Given the description of an element on the screen output the (x, y) to click on. 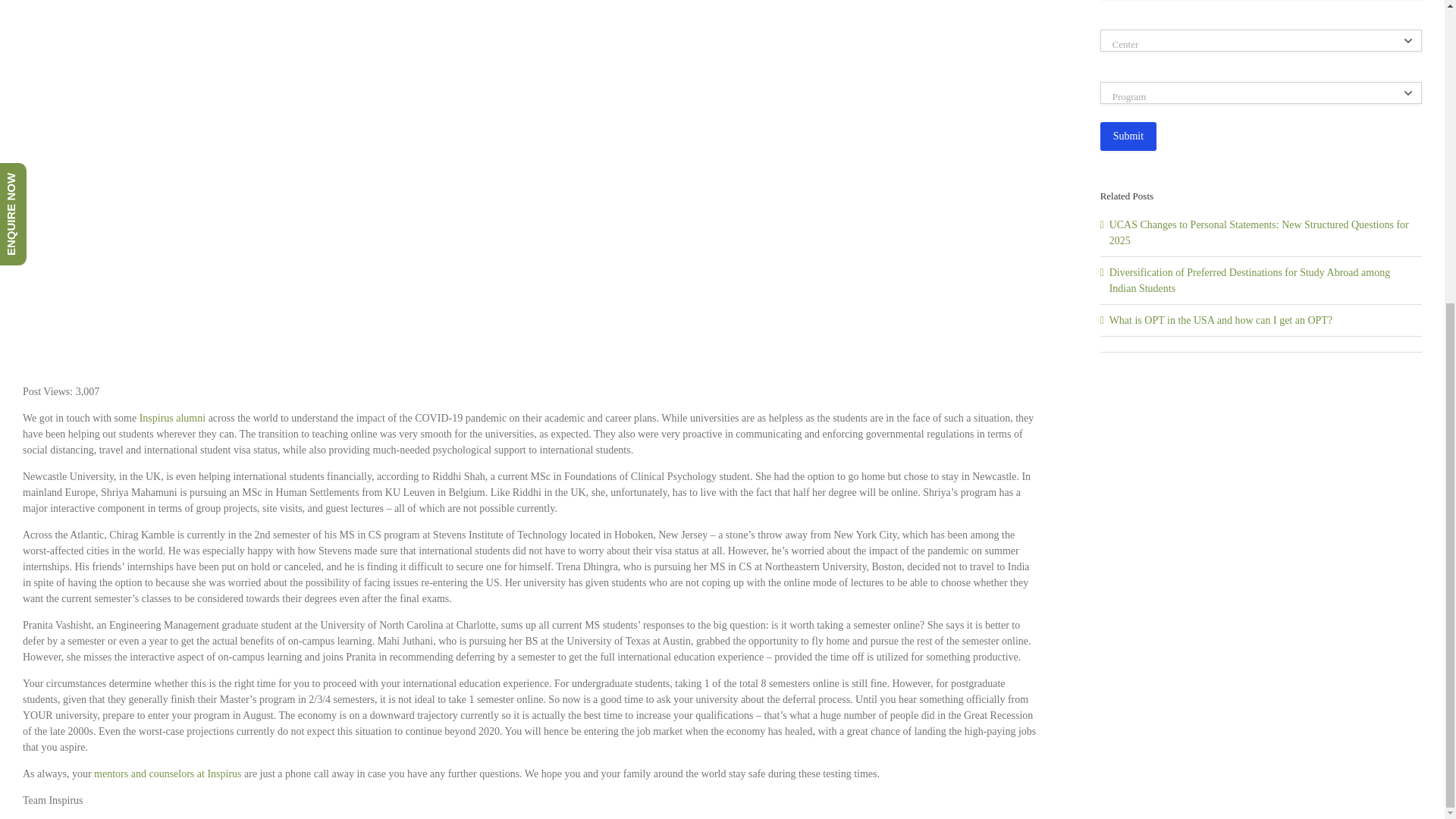
Inspirus alumni (172, 418)
Submit (1128, 136)
mentors and counselors at Inspirus (167, 773)
